Given the description of an element on the screen output the (x, y) to click on. 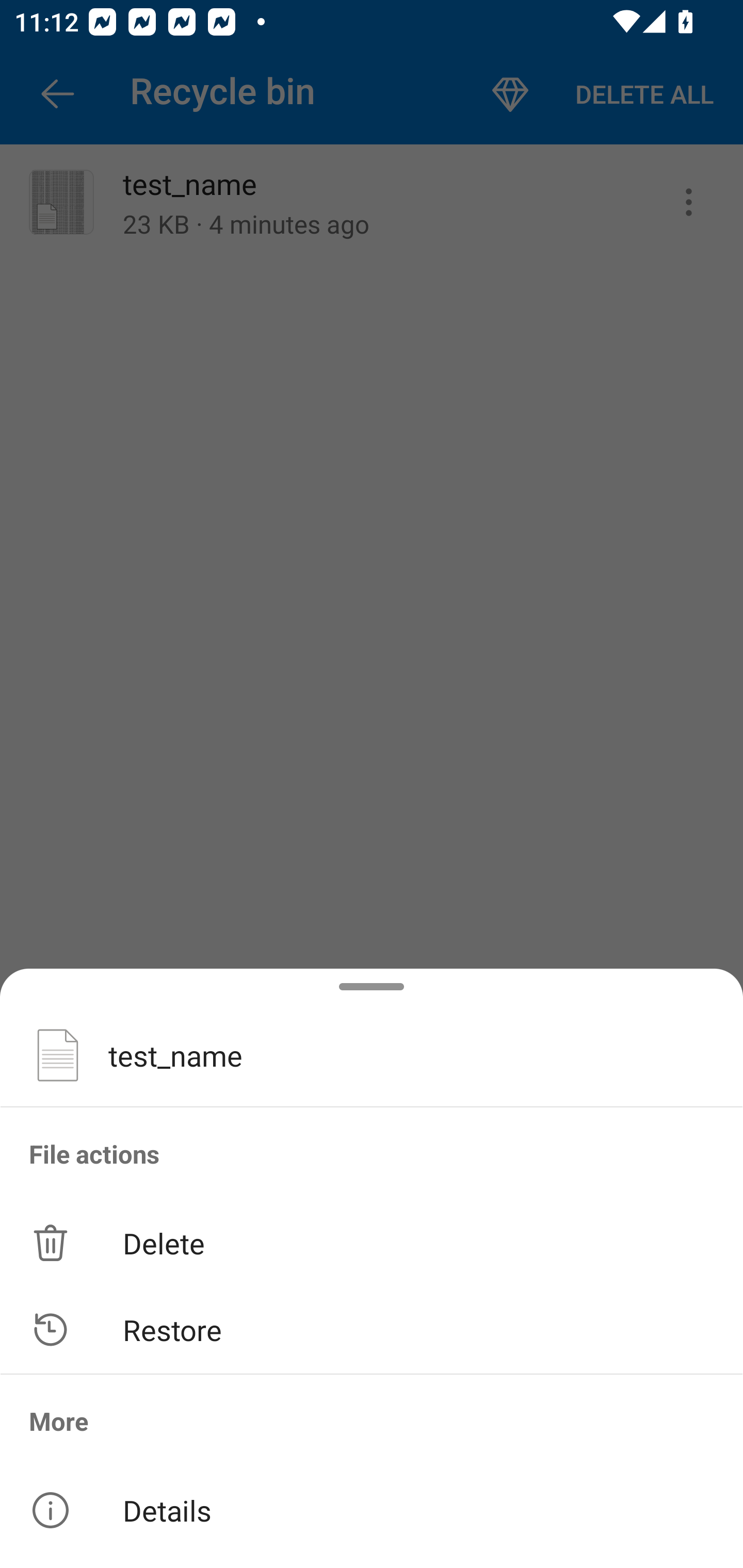
Delete button Delete (371, 1242)
Restore button Restore (371, 1329)
Details button Details (371, 1510)
